Given the description of an element on the screen output the (x, y) to click on. 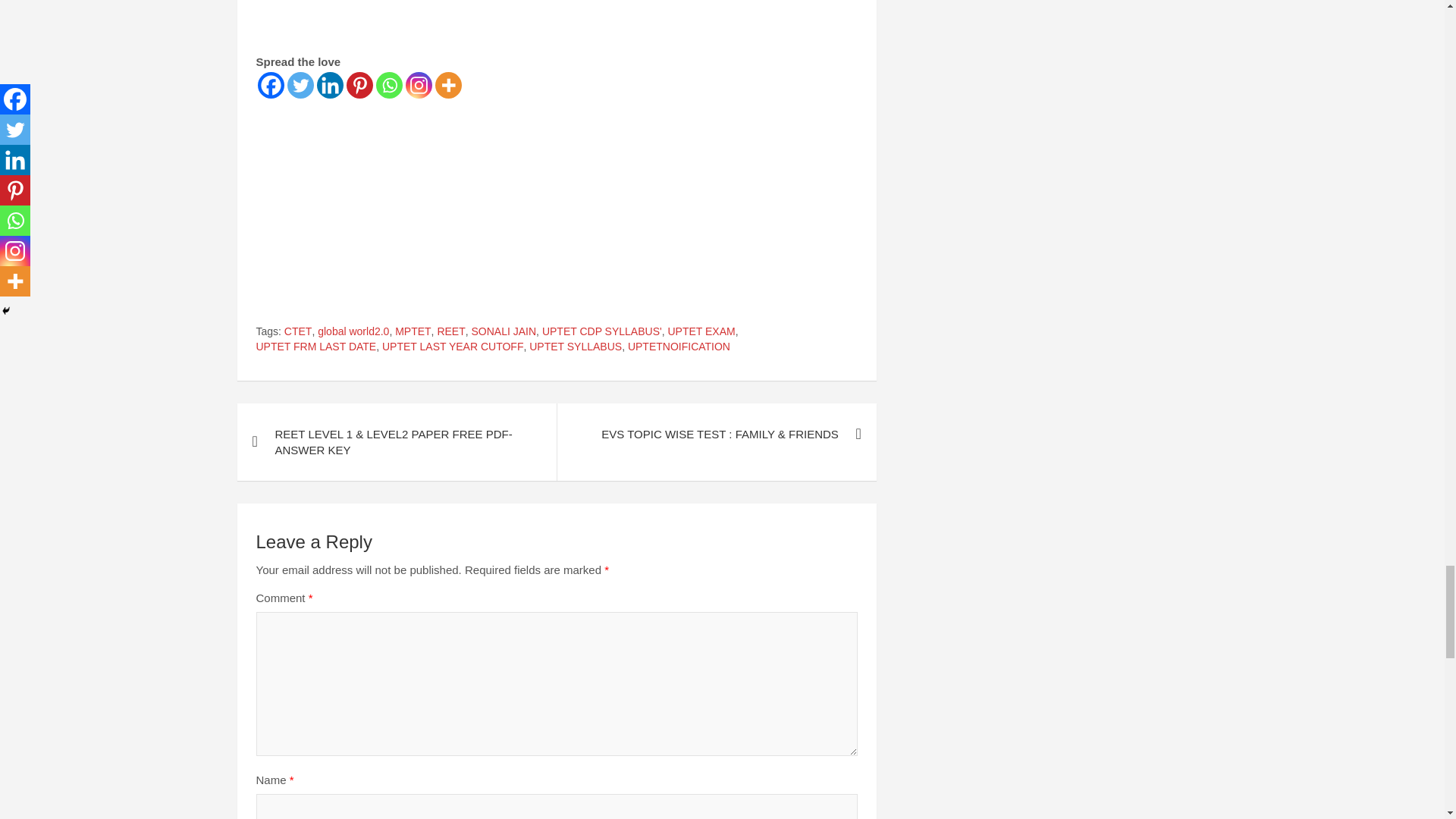
Pinterest (359, 85)
Instagram (417, 85)
Facebook (270, 85)
Whatsapp (389, 85)
More (448, 85)
Linkedin (330, 85)
Twitter (299, 85)
